Given the description of an element on the screen output the (x, y) to click on. 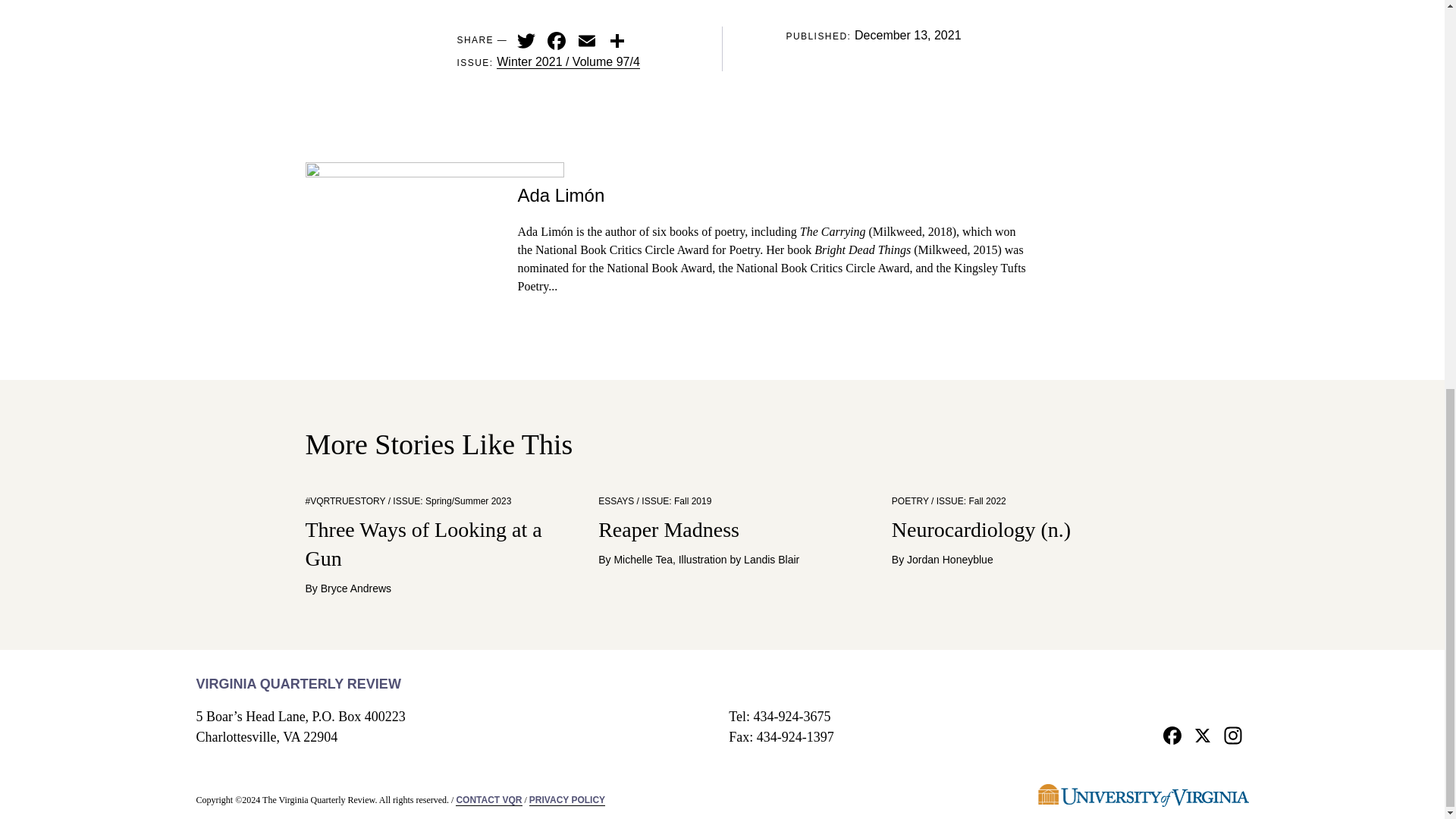
Email (587, 39)
Facebook (556, 39)
Twitter (526, 39)
